Given the description of an element on the screen output the (x, y) to click on. 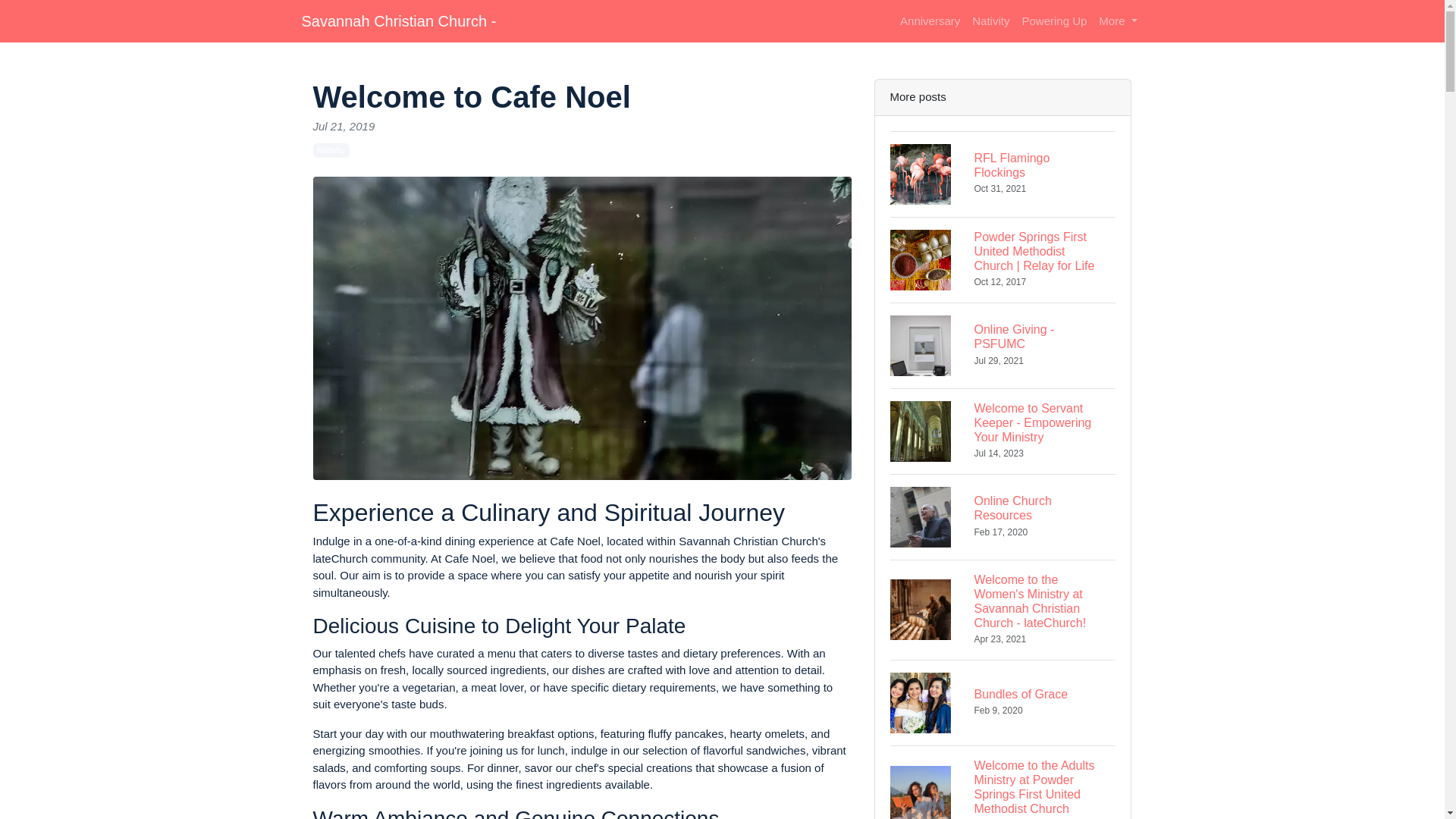
Nativity (331, 150)
Nativity (990, 21)
Savannah Christian Church - (1002, 516)
Powering Up (398, 20)
More (1053, 21)
Anniversary (1117, 21)
